Given the description of an element on the screen output the (x, y) to click on. 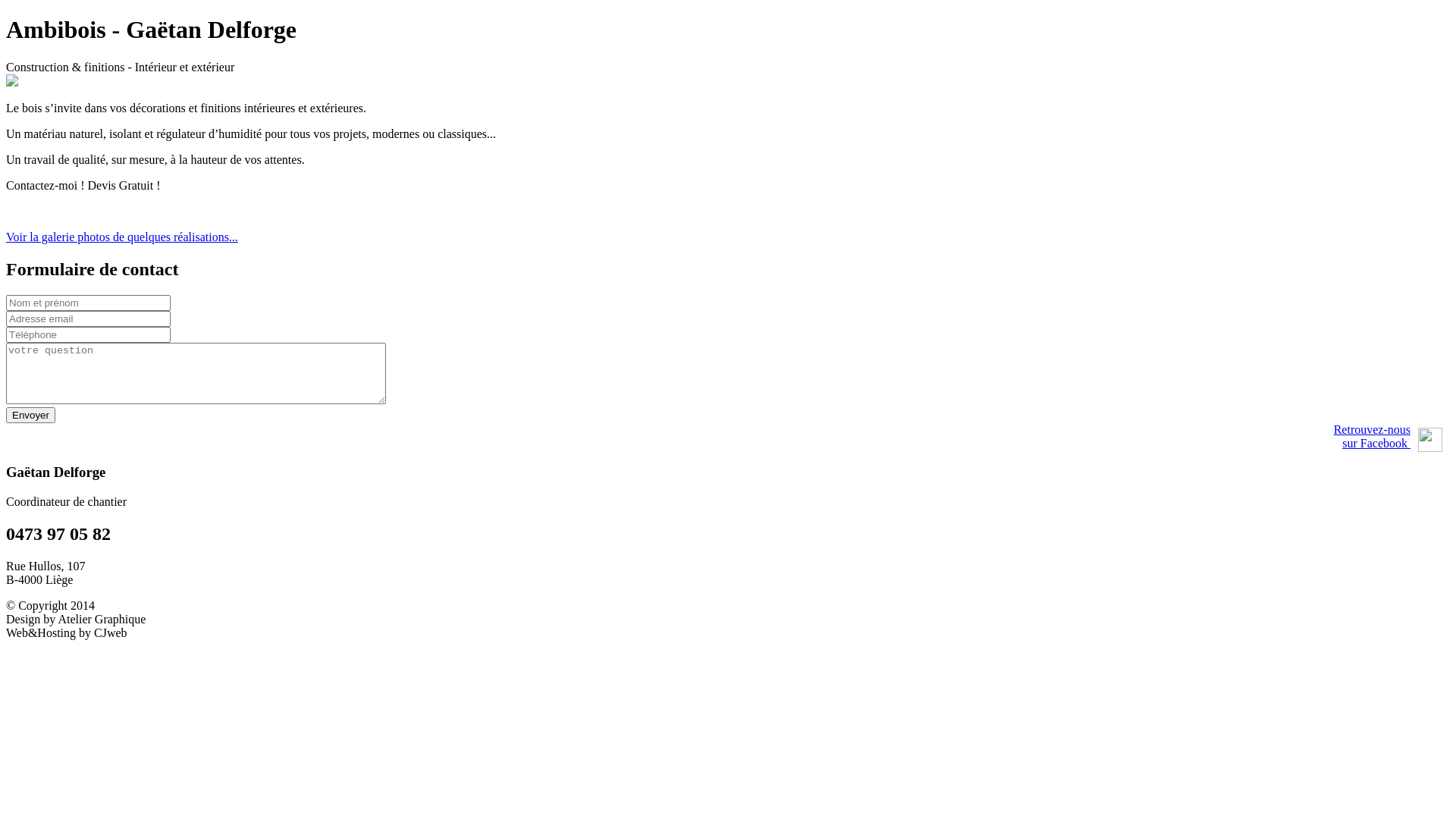
Retrouvez-nous Element type: text (1371, 429)
sur Facebook  Element type: text (1376, 442)
Envoyer Element type: text (30, 415)
